Given the description of an element on the screen output the (x, y) to click on. 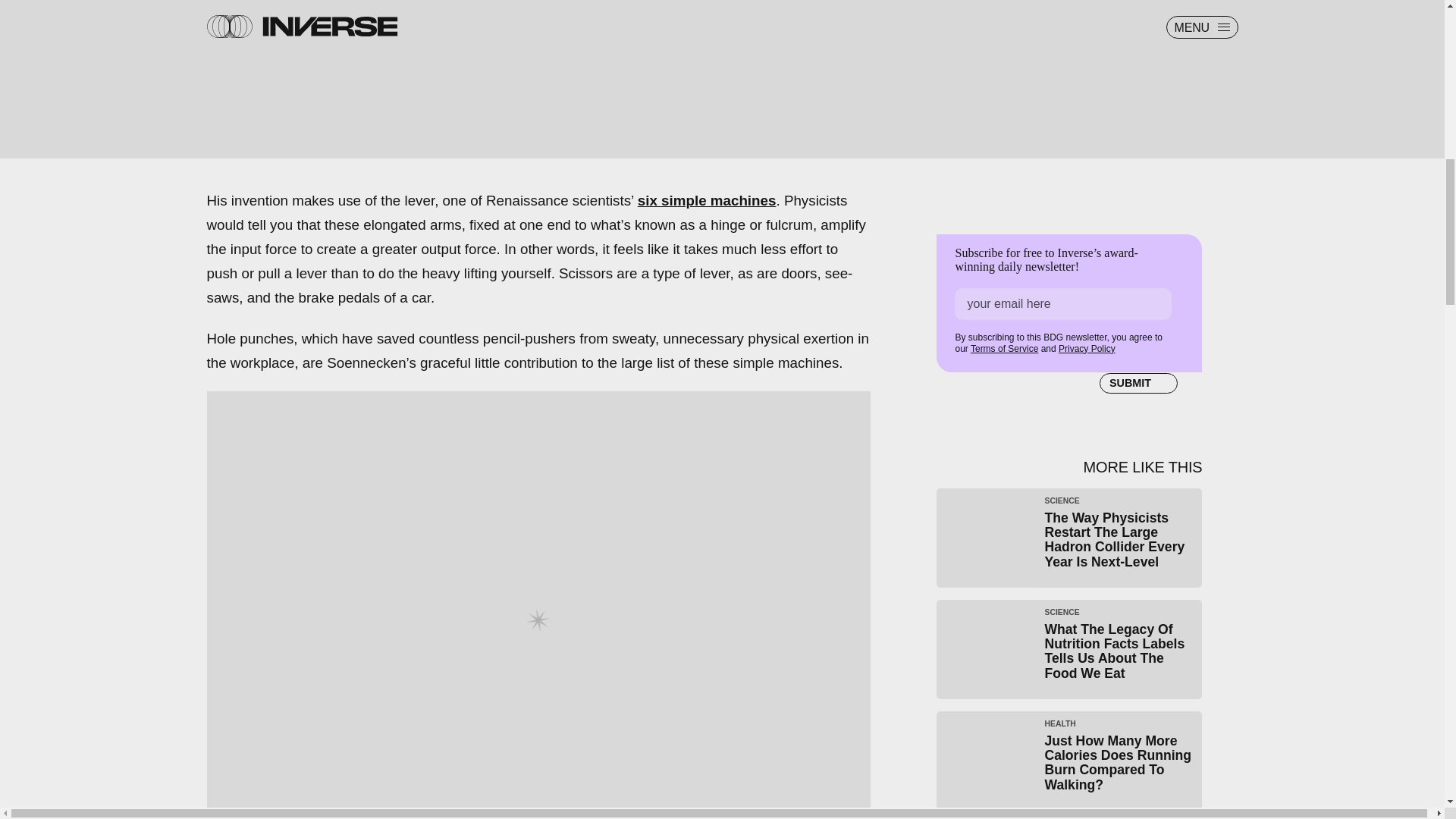
SUBMIT (1138, 383)
six simple machines (706, 200)
Terms of Service (1004, 348)
Privacy Policy (1086, 348)
